Given the description of an element on the screen output the (x, y) to click on. 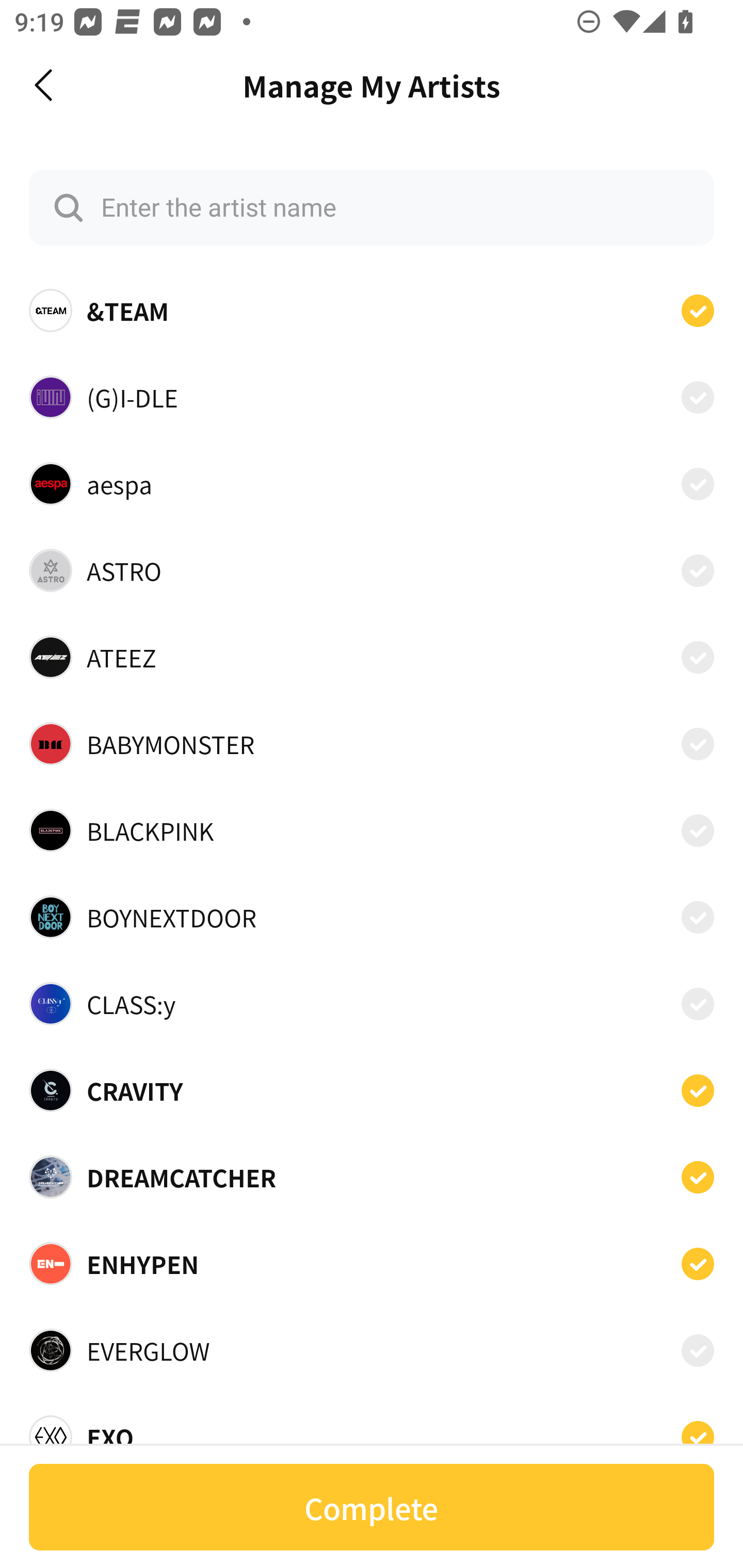
Enter the artist name (371, 207)
&TEAM (371, 310)
(G)I-DLE (371, 396)
aespa (371, 483)
ASTRO (371, 570)
ATEEZ (371, 656)
BABYMONSTER (371, 743)
BLACKPINK (371, 830)
BOYNEXTDOOR (371, 917)
CLASS:y (371, 1003)
CRAVITY (371, 1090)
DREAMCATCHER (371, 1176)
ENHYPEN (371, 1263)
EVERGLOW (371, 1350)
EXO (371, 1430)
Complete (371, 1507)
